Given the description of an element on the screen output the (x, y) to click on. 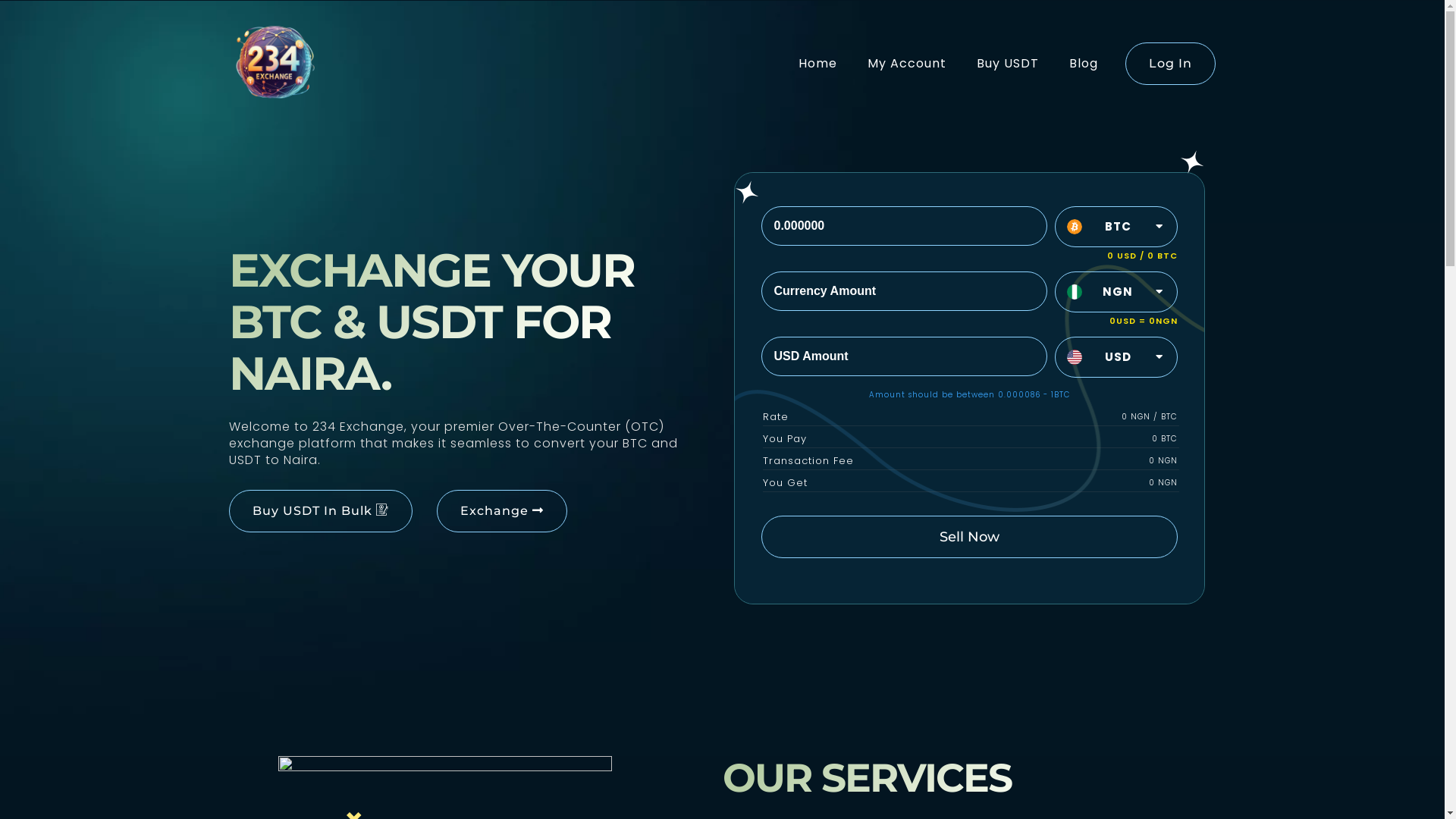
Sell Now Element type: text (969, 536)
Buy USDT In Bulk Element type: text (320, 510)
Exchange Element type: text (501, 510)
Buy USDT Element type: text (1007, 63)
My Account Element type: text (906, 63)
Log In Element type: text (1170, 63)
Blog Element type: text (1083, 63)
Home Element type: text (816, 63)
